Given the description of an element on the screen output the (x, y) to click on. 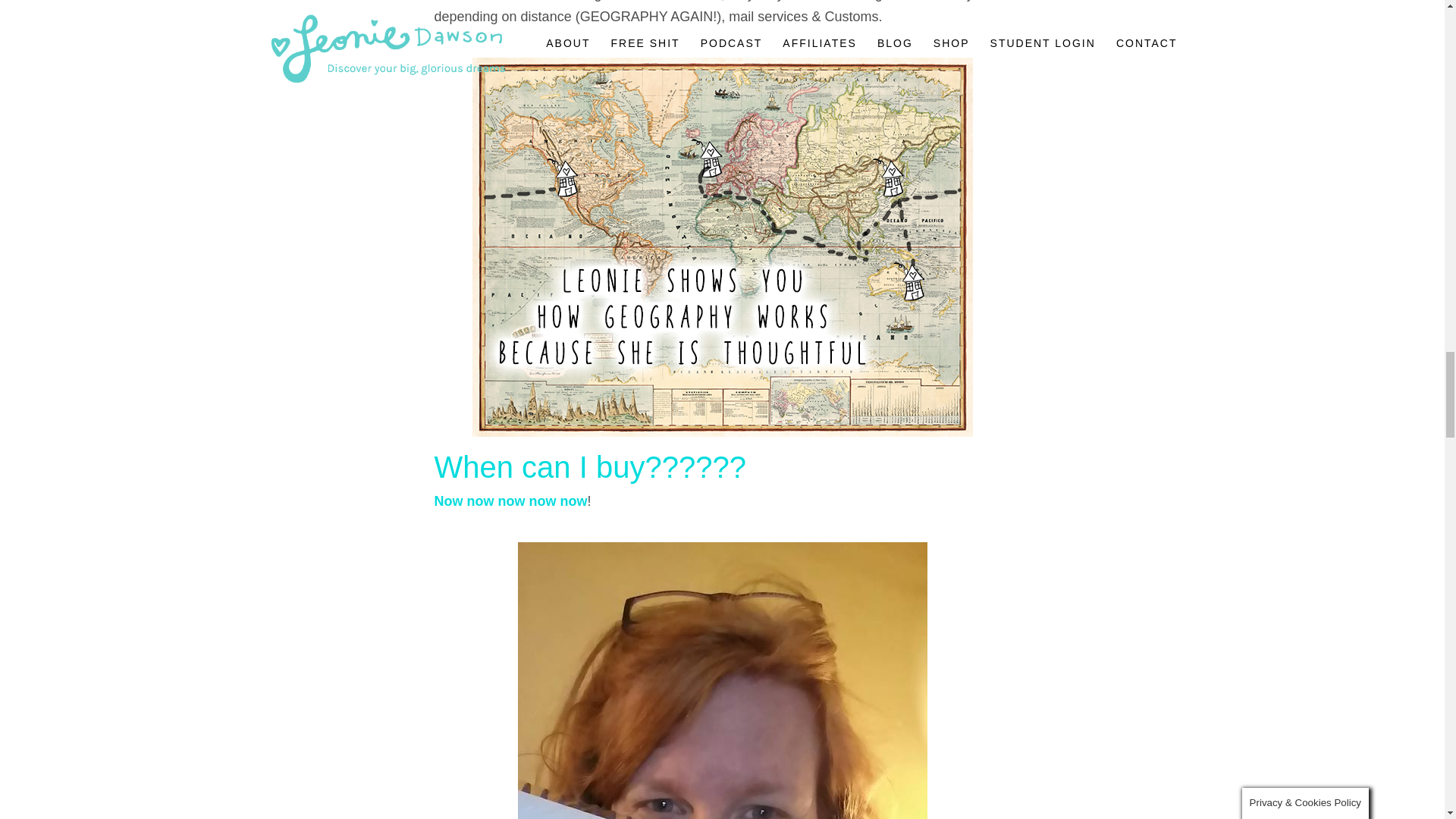
Now now now now now (509, 500)
